Given the description of an element on the screen output the (x, y) to click on. 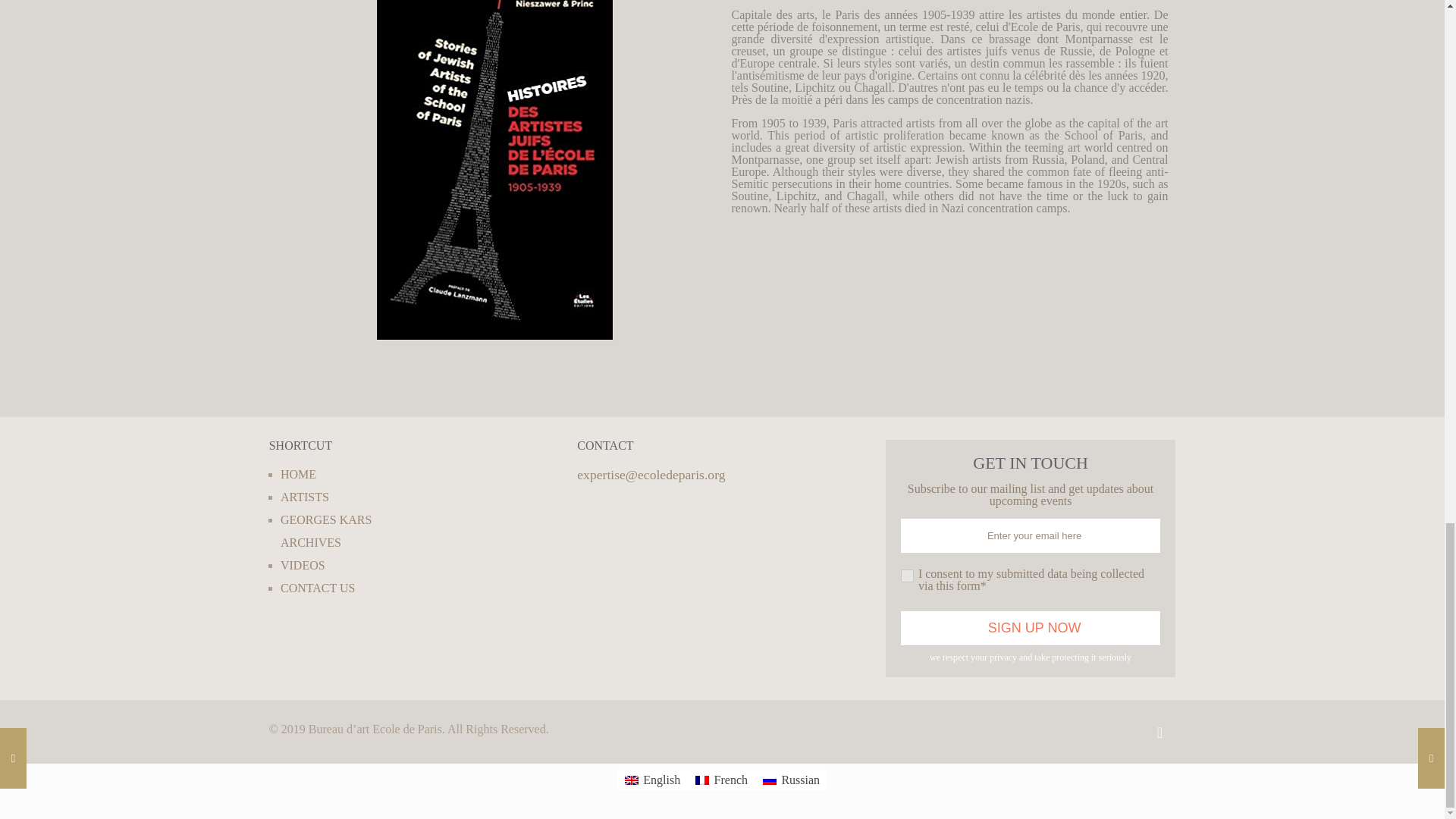
ARTISTS (305, 496)
Sign Up Now (1030, 627)
on (907, 575)
HOME (298, 473)
GEORGES KARS ARCHIVES (326, 530)
French (721, 779)
CONTACT US (318, 587)
Russian (791, 779)
English (652, 779)
Sign Up Now (1030, 627)
VIDEOS (302, 564)
